Given the description of an element on the screen output the (x, y) to click on. 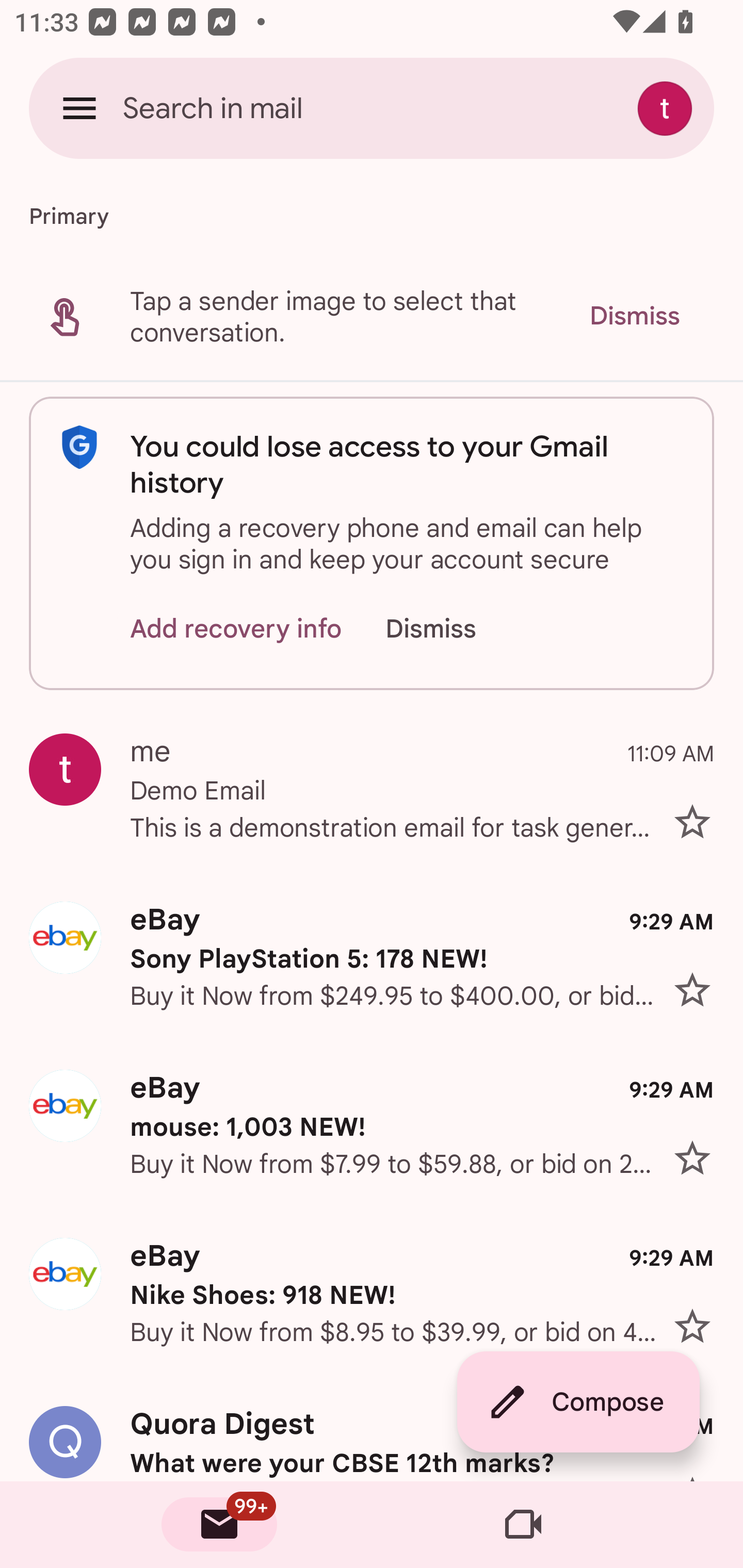
Open navigation drawer (79, 108)
Dismiss Dismiss tip (634, 315)
Add recovery info (235, 628)
Dismiss (449, 628)
Compose (577, 1401)
Meet (523, 1524)
